Given the description of an element on the screen output the (x, y) to click on. 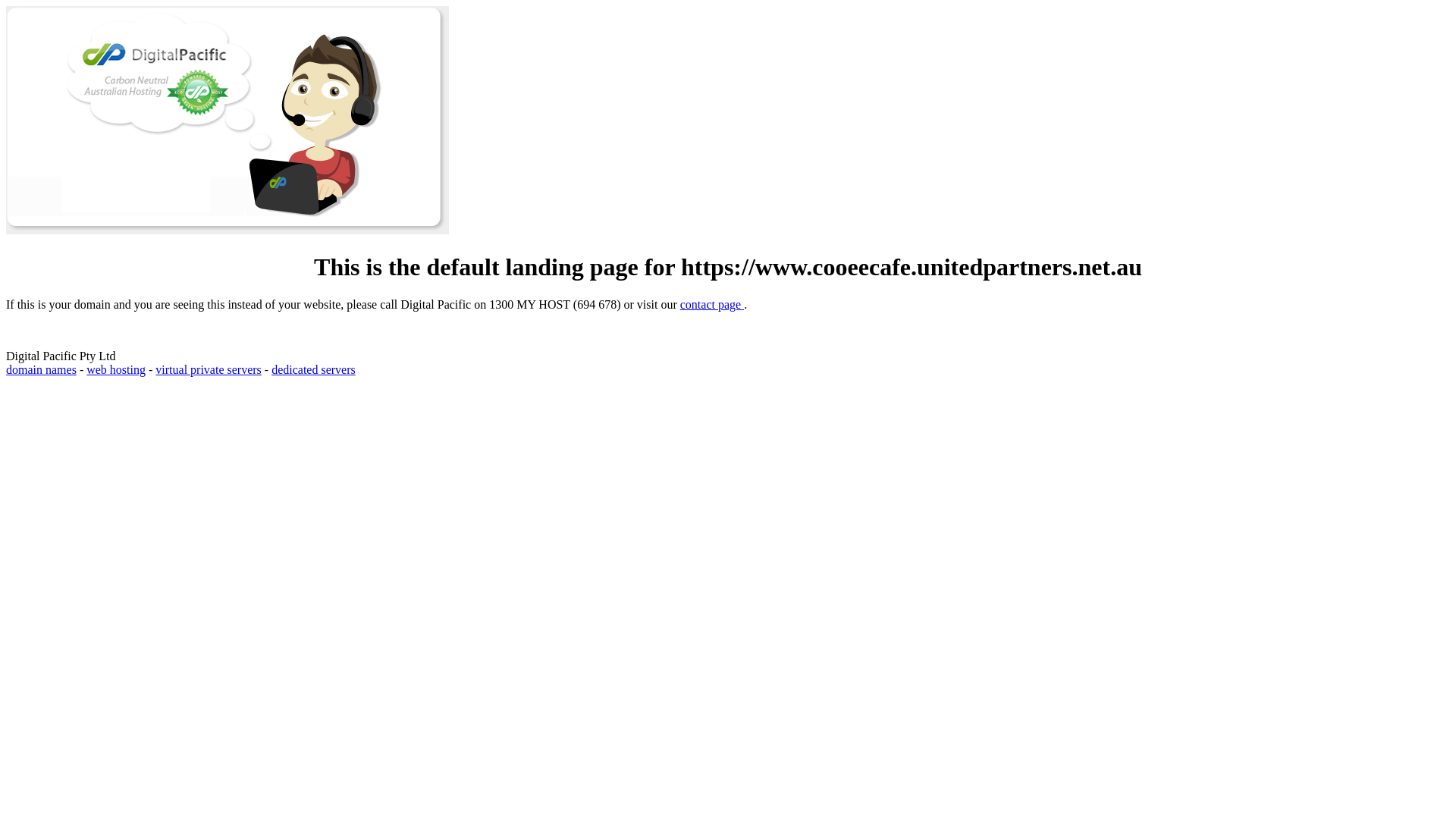
contact page Element type: text (711, 304)
domain names Element type: text (41, 369)
dedicated servers Element type: text (313, 369)
web hosting Element type: text (115, 369)
virtual private servers Element type: text (208, 369)
